Given the description of an element on the screen output the (x, y) to click on. 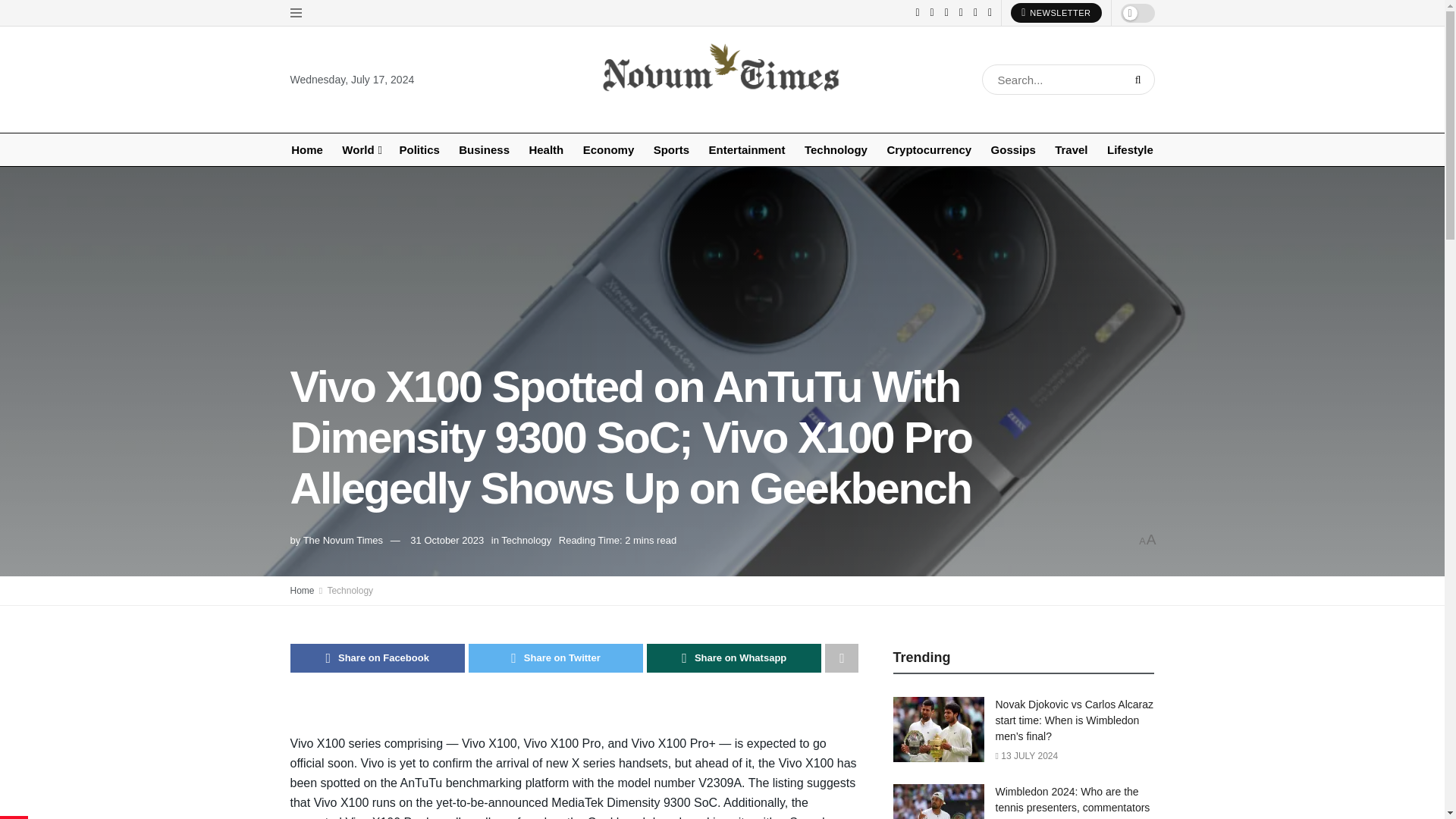
Technology (836, 149)
Cryptocurrency (928, 149)
Business (484, 149)
Politics (419, 149)
NEWSLETTER (1055, 12)
Economy (607, 149)
Health (545, 149)
Entertainment (746, 149)
Home (306, 149)
Travel (1070, 149)
Gossips (1013, 149)
World (360, 149)
Lifestyle (1129, 149)
Sports (671, 149)
